Given the description of an element on the screen output the (x, y) to click on. 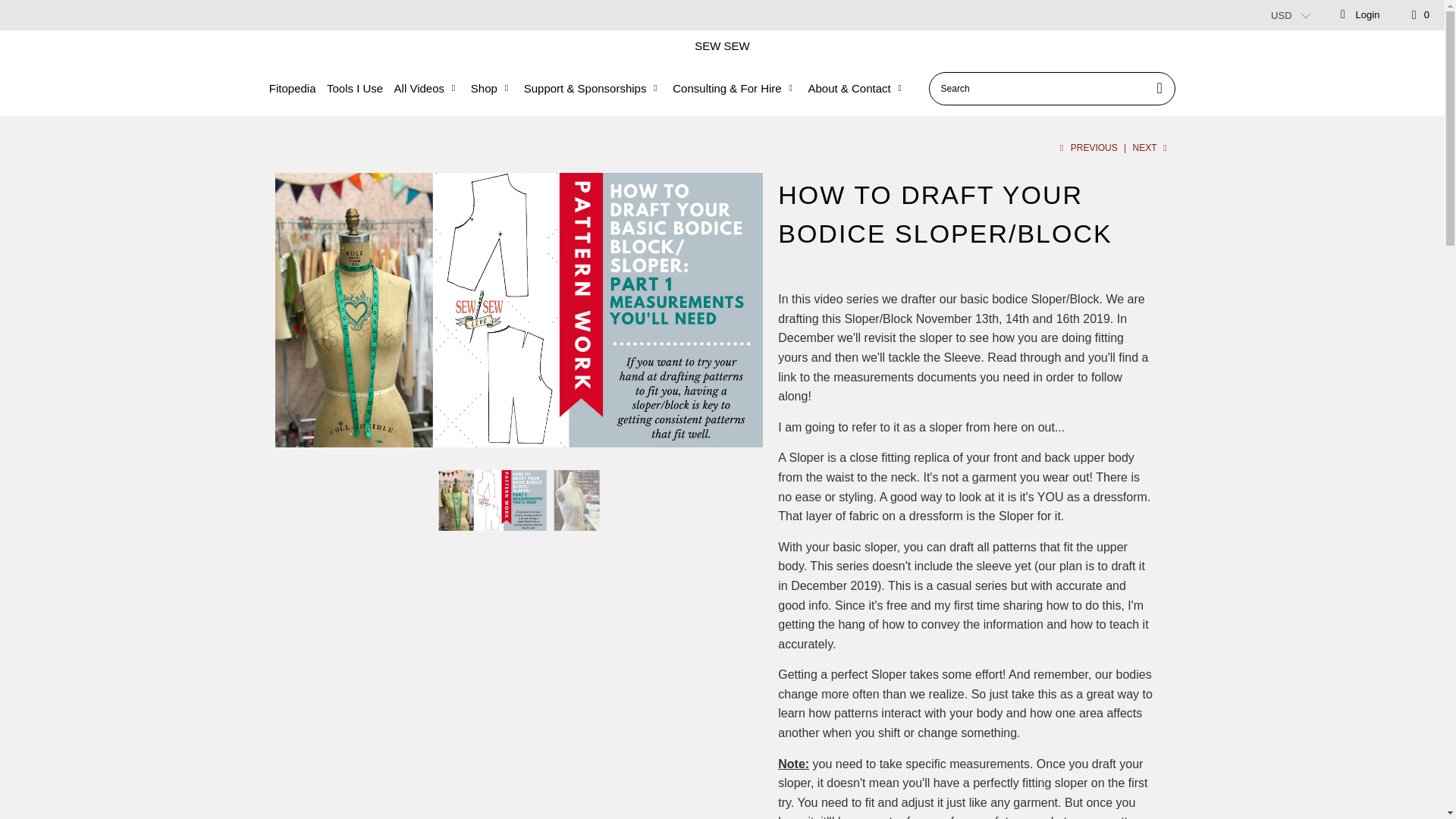
Previous (1086, 147)
Login (1359, 15)
Next (1151, 147)
My Account  (1359, 15)
